Given the description of an element on the screen output the (x, y) to click on. 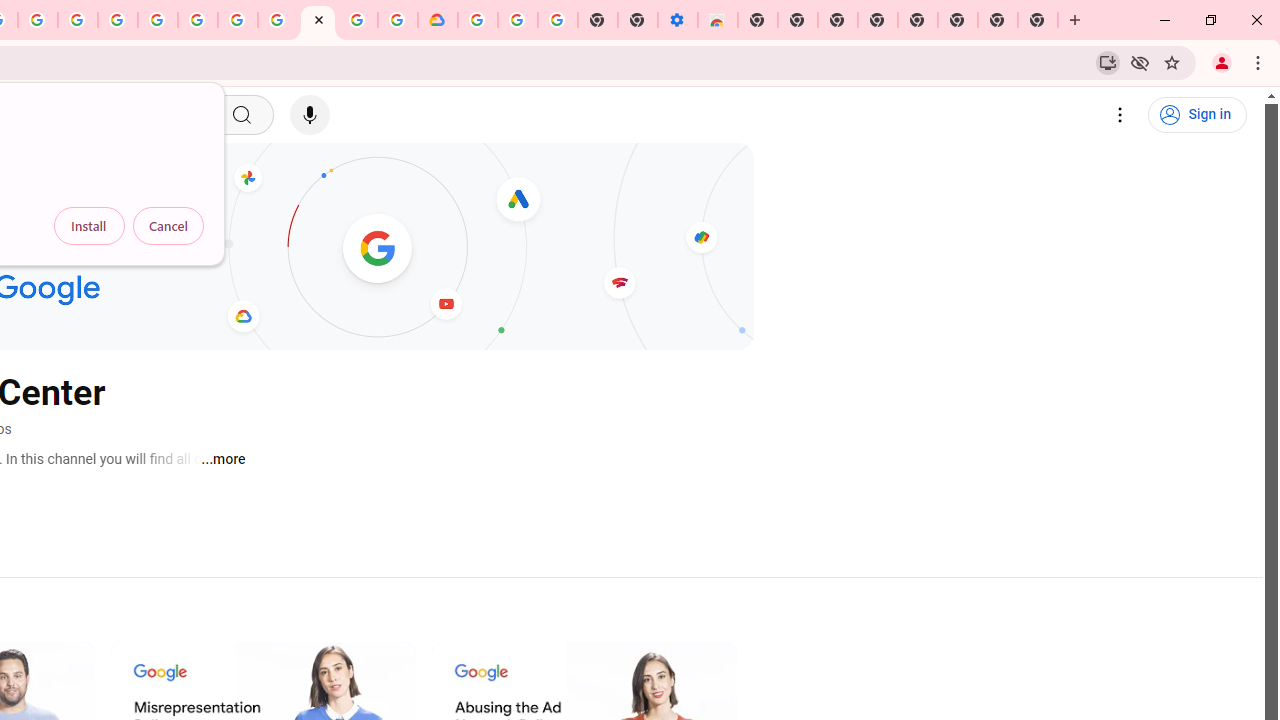
Search (240, 115)
Install (89, 225)
Chrome Web Store - Accessibility extensions (717, 20)
Google Account Help (237, 20)
Android TV Policies and Guidelines - Transparency Center (278, 20)
Create your Google Account (37, 20)
Create your Google Account (357, 20)
Google Transparency Center - YouTube (317, 20)
Sign in - Google Accounts (157, 20)
Cancel (168, 225)
